Given the description of an element on the screen output the (x, y) to click on. 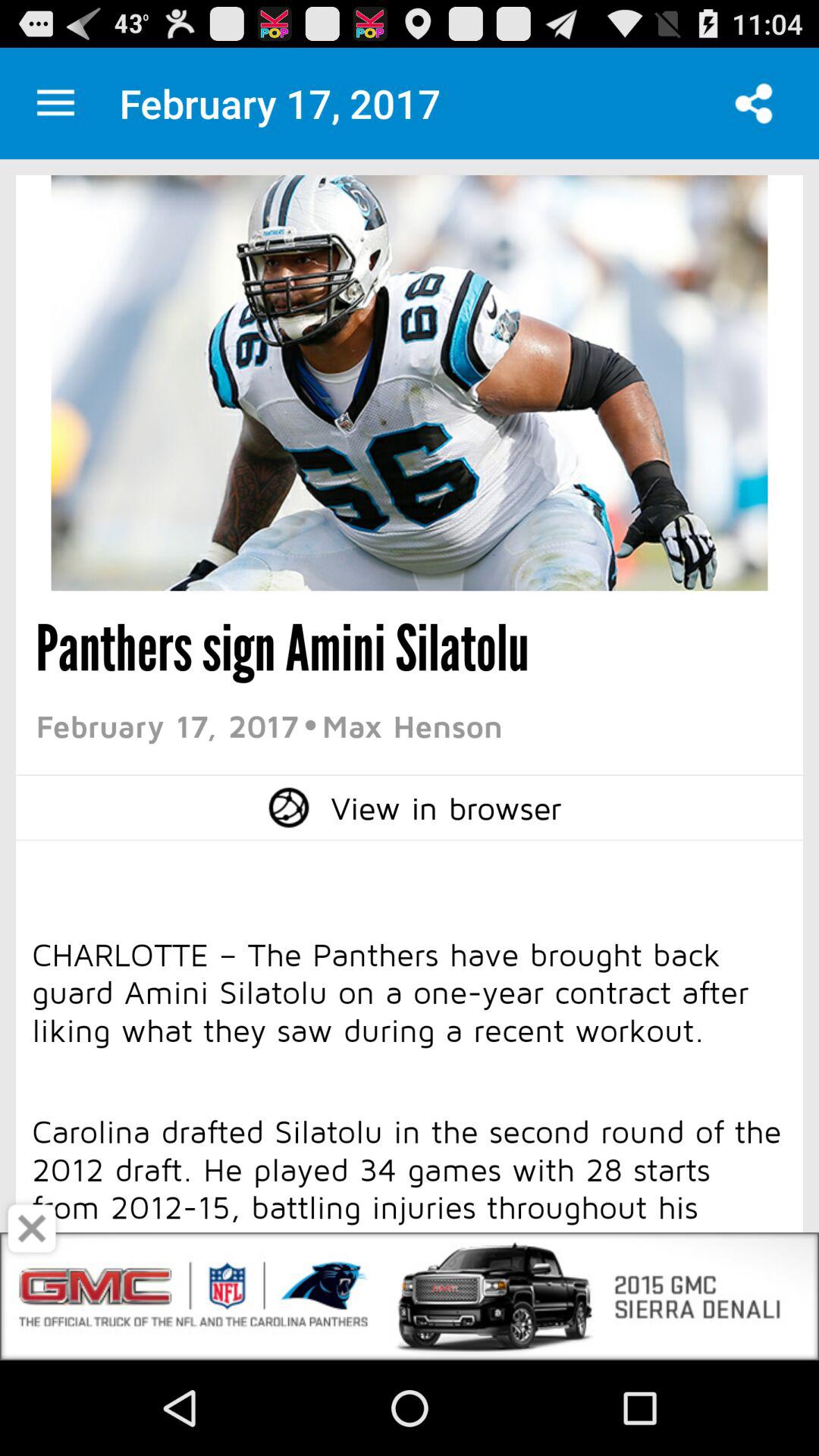
my file to be using (55, 103)
